Given the description of an element on the screen output the (x, y) to click on. 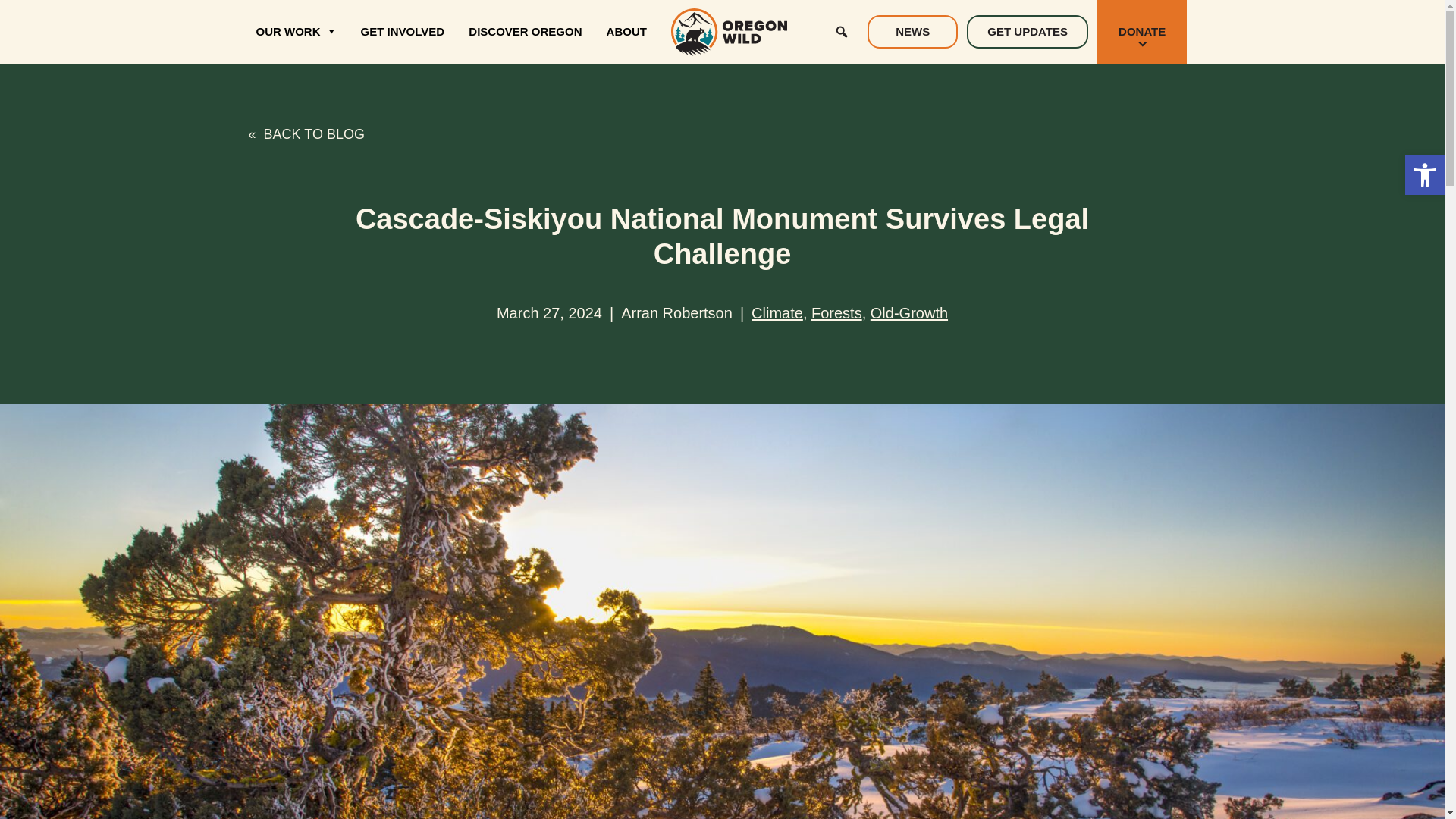
Accessibility Tools (1424, 174)
GET INVOLVED (402, 31)
OUR WORK (295, 31)
DISCOVER OREGON (525, 31)
